Given the description of an element on the screen output the (x, y) to click on. 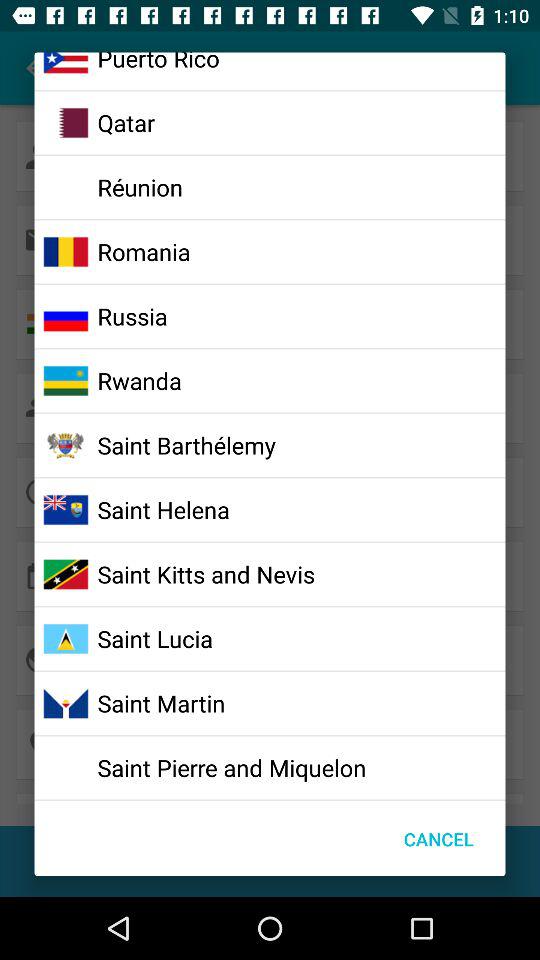
open the icon above the romania item (139, 187)
